Given the description of an element on the screen output the (x, y) to click on. 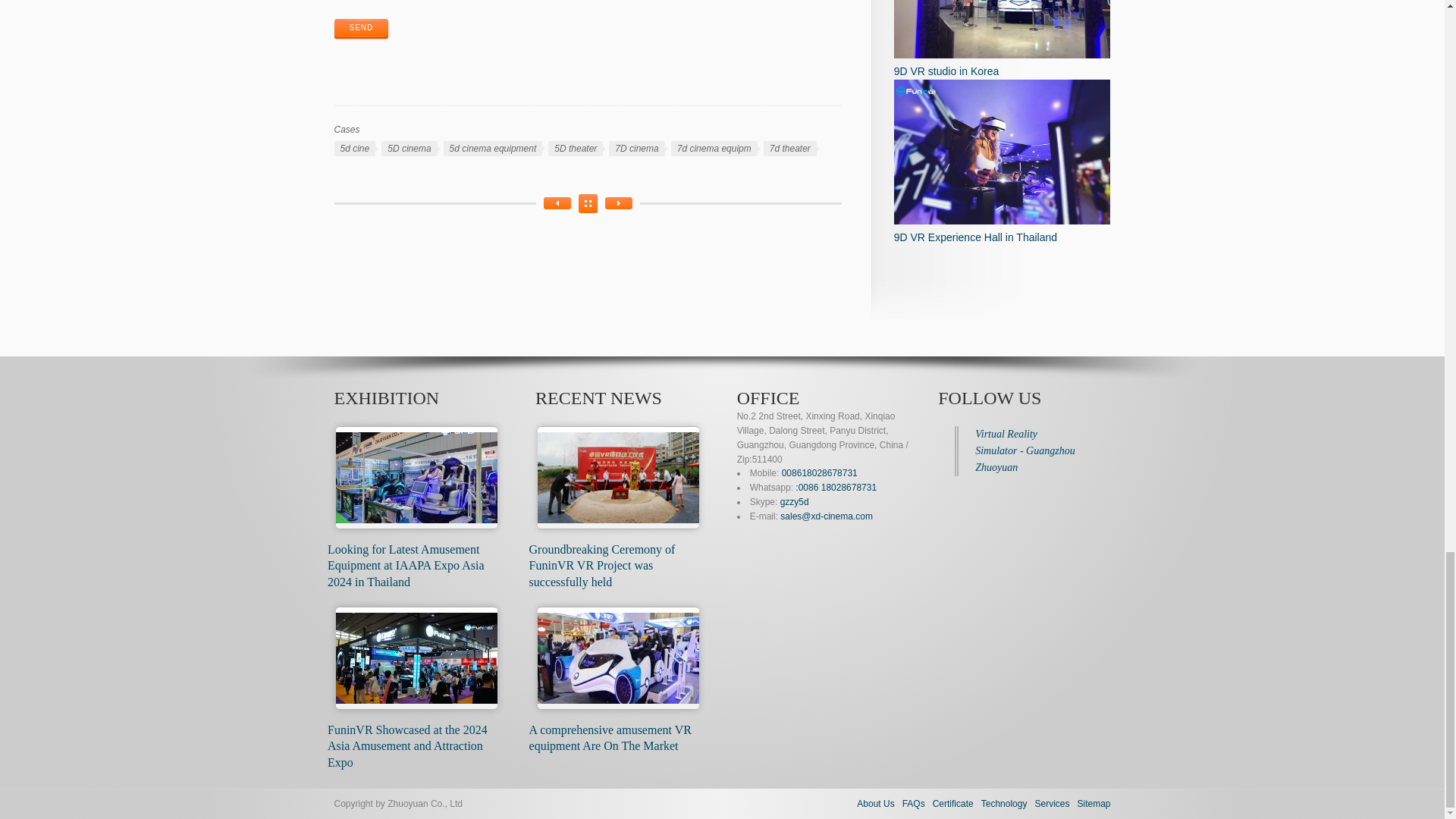
A comprehensive amusement VR equipment Are On The Market (610, 737)
